Given the description of an element on the screen output the (x, y) to click on. 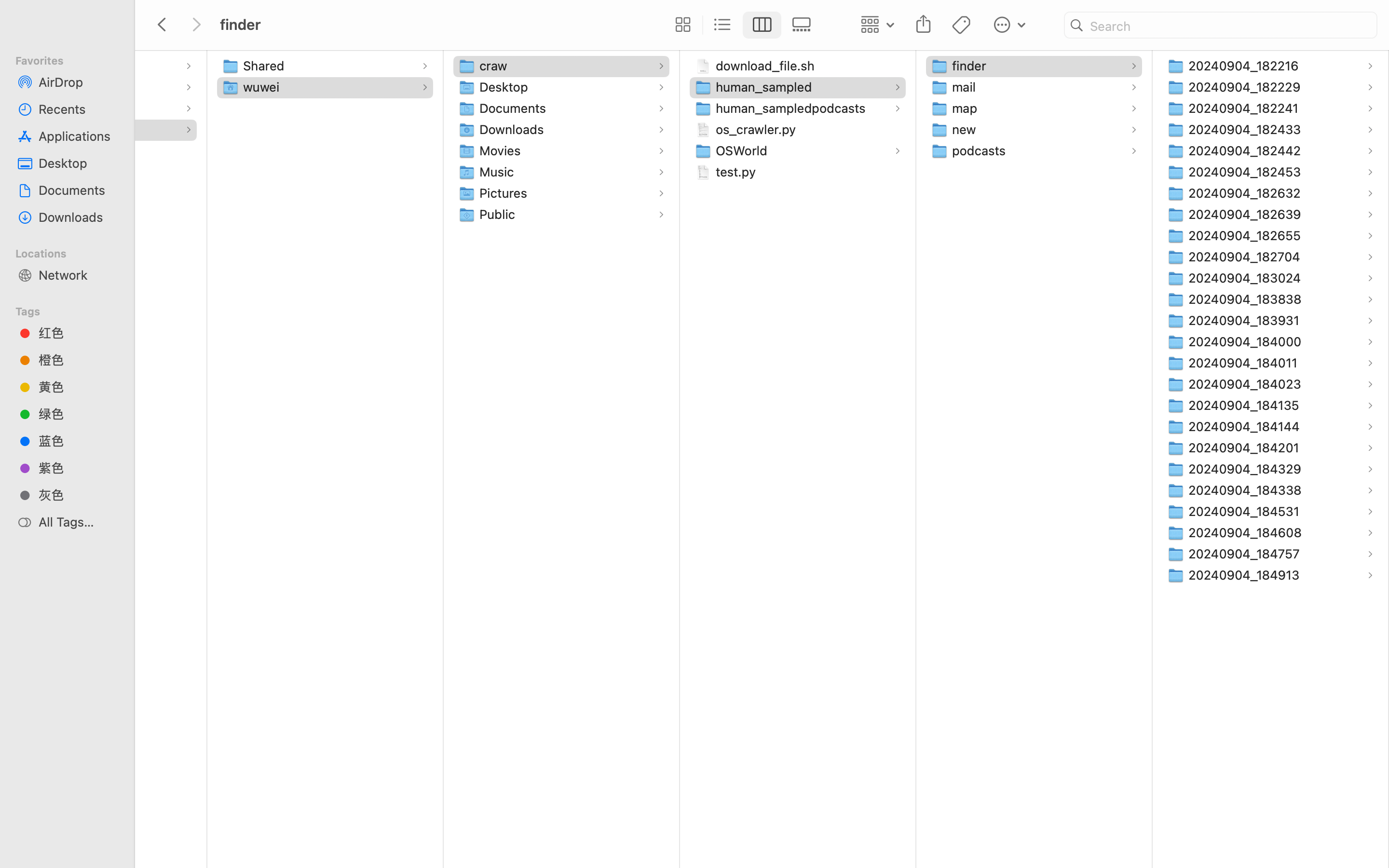
Public Element type: AXTextField (499, 213)
Documents Element type: AXStaticText (77, 189)
Tags Element type: AXStaticText (72, 309)
20240904_182453 Element type: AXTextField (1246, 171)
20240904_183024 Element type: AXTextField (1246, 277)
